Given the description of an element on the screen output the (x, y) to click on. 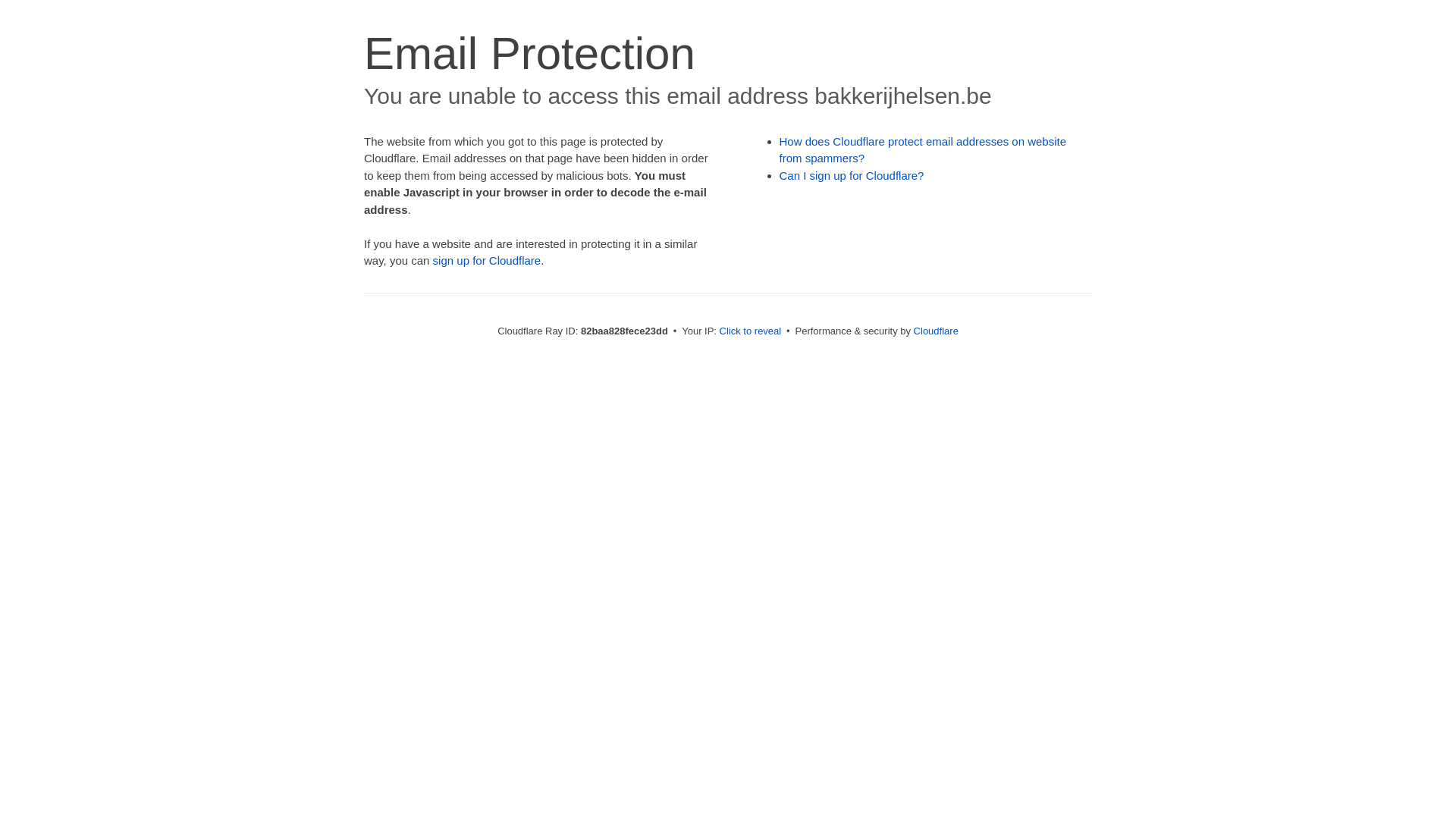
sign up for Cloudflare Element type: text (487, 260)
Can I sign up for Cloudflare? Element type: text (851, 175)
Cloudflare Element type: text (935, 330)
Click to reveal Element type: text (750, 330)
